Given the description of an element on the screen output the (x, y) to click on. 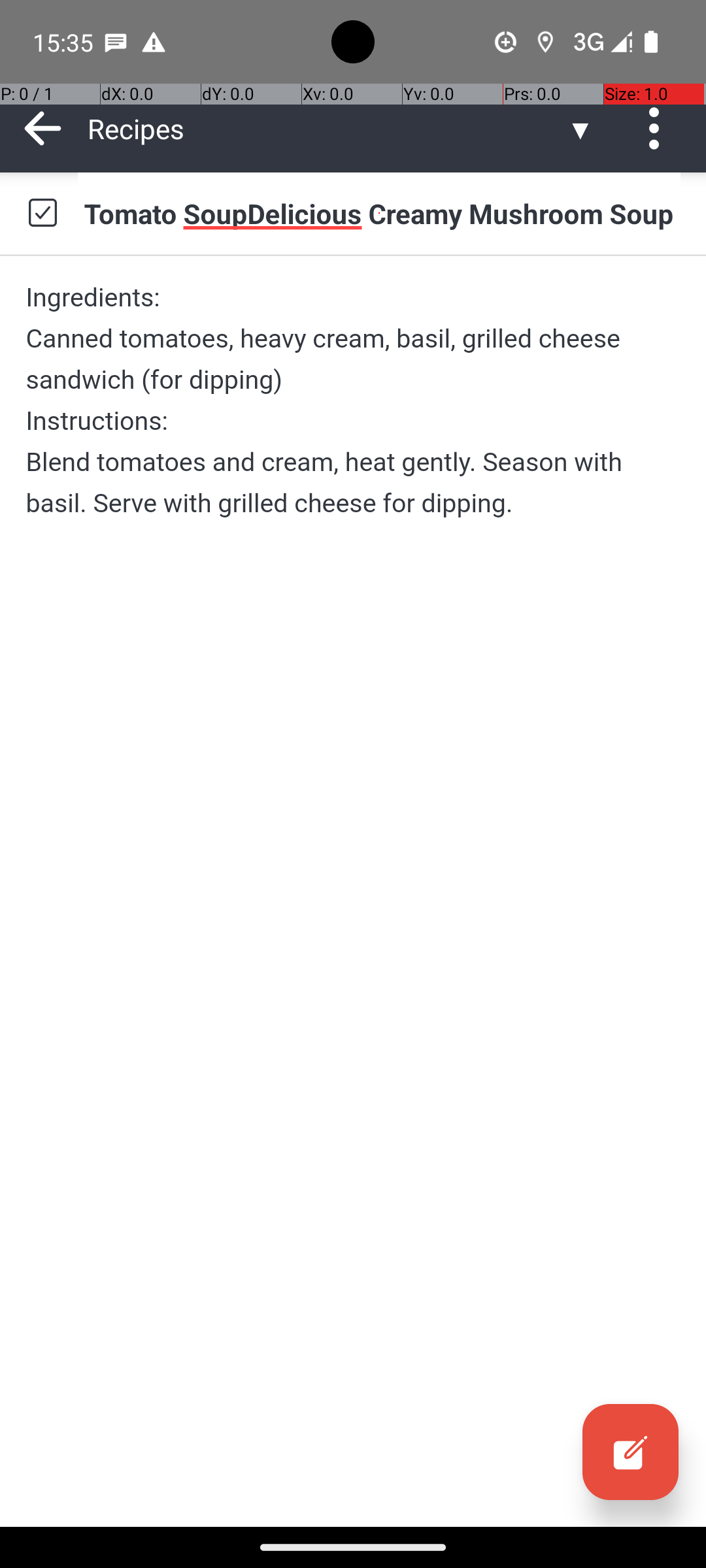
Creamy Tomato SoupDelicious Creamy Mushroom Soup Element type: android.widget.EditText (378, 213)
Edit, collapsed Element type: android.widget.Button (630, 1452)
Recipes Element type: android.widget.TextView (326, 128)
 Element type: android.widget.TextView (42, 212)
 Element type: android.widget.TextView (630, 1451)
Ingredients:
Canned tomatoes, heavy cream, basil, grilled cheese sandwich (for dipping)
Instructions:
Blend tomatoes and cream, heat gently. Season with basil. Serve with grilled cheese for dipping. Element type: android.widget.TextView (352, 399)
